Given the description of an element on the screen output the (x, y) to click on. 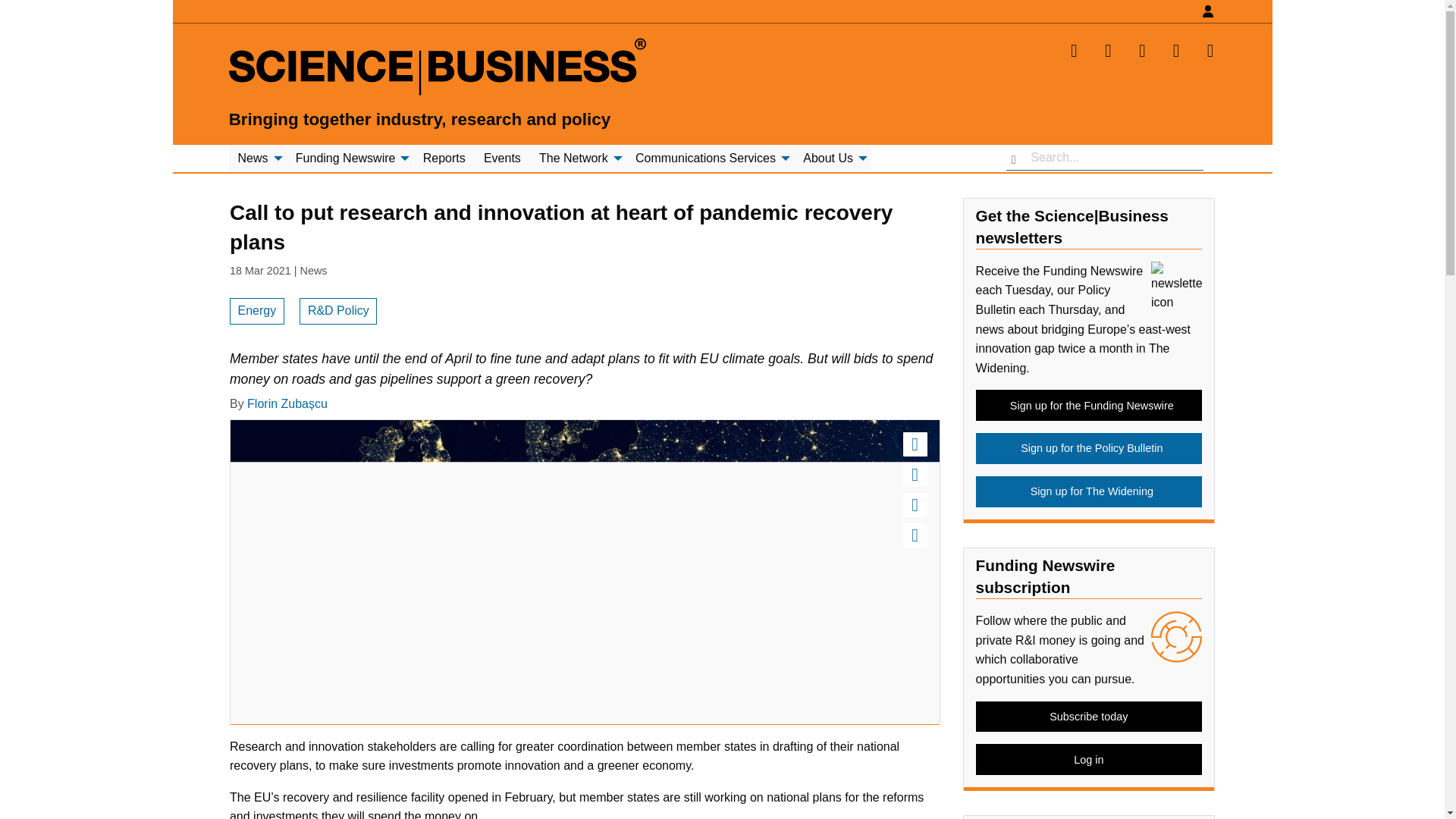
Share on Facebook (914, 474)
For the latest funding insights (349, 157)
Share on Twitter (914, 444)
Email this article to a friend (914, 504)
Enter the terms you wish to search for. (1105, 157)
